Given the description of an element on the screen output the (x, y) to click on. 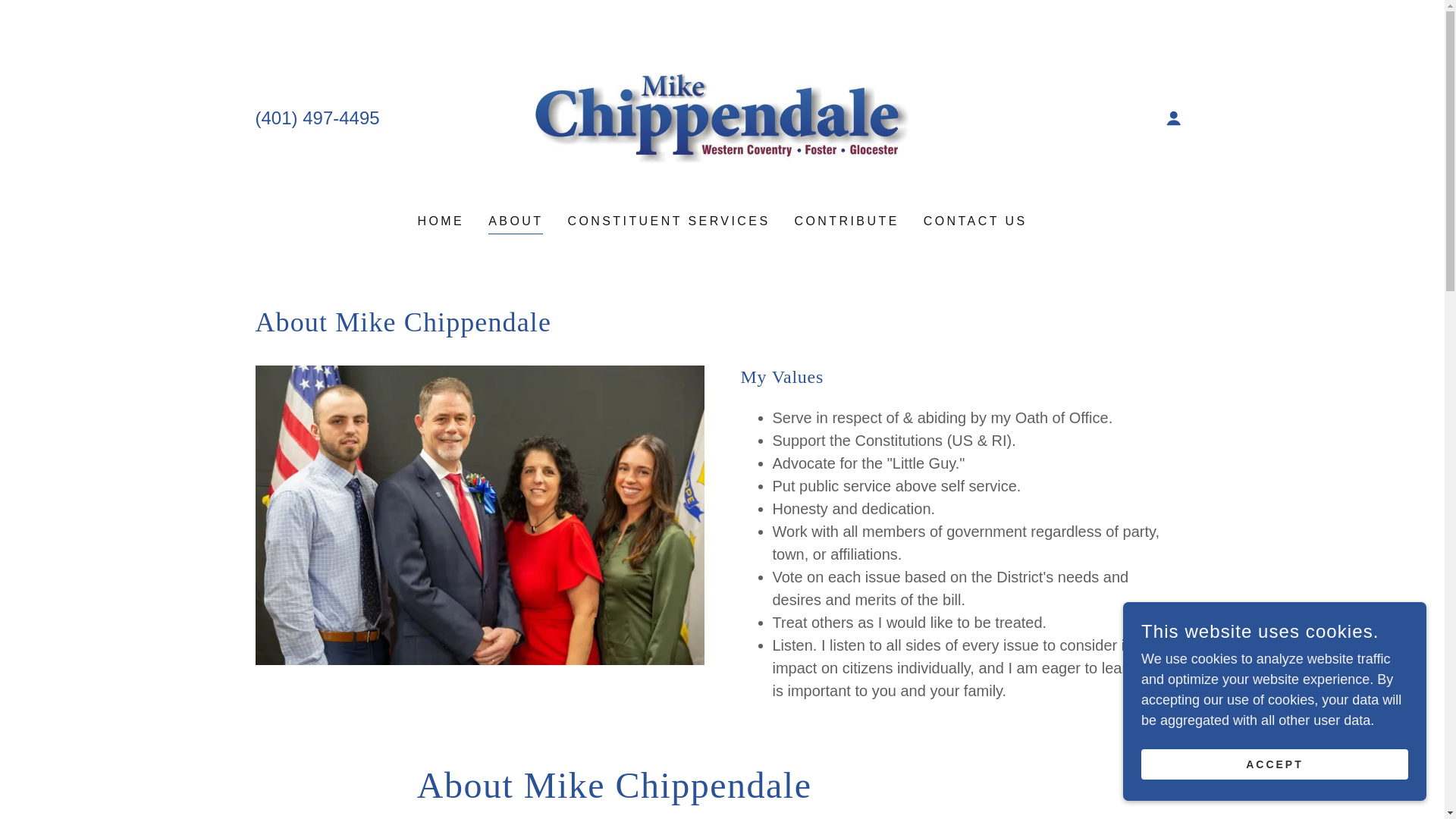
CONSTITUENT SERVICES (668, 221)
CONTRIBUTE (845, 221)
ACCEPT (1274, 764)
ABOUT (515, 223)
CONTACT US (975, 221)
HOME (440, 221)
